Given the description of an element on the screen output the (x, y) to click on. 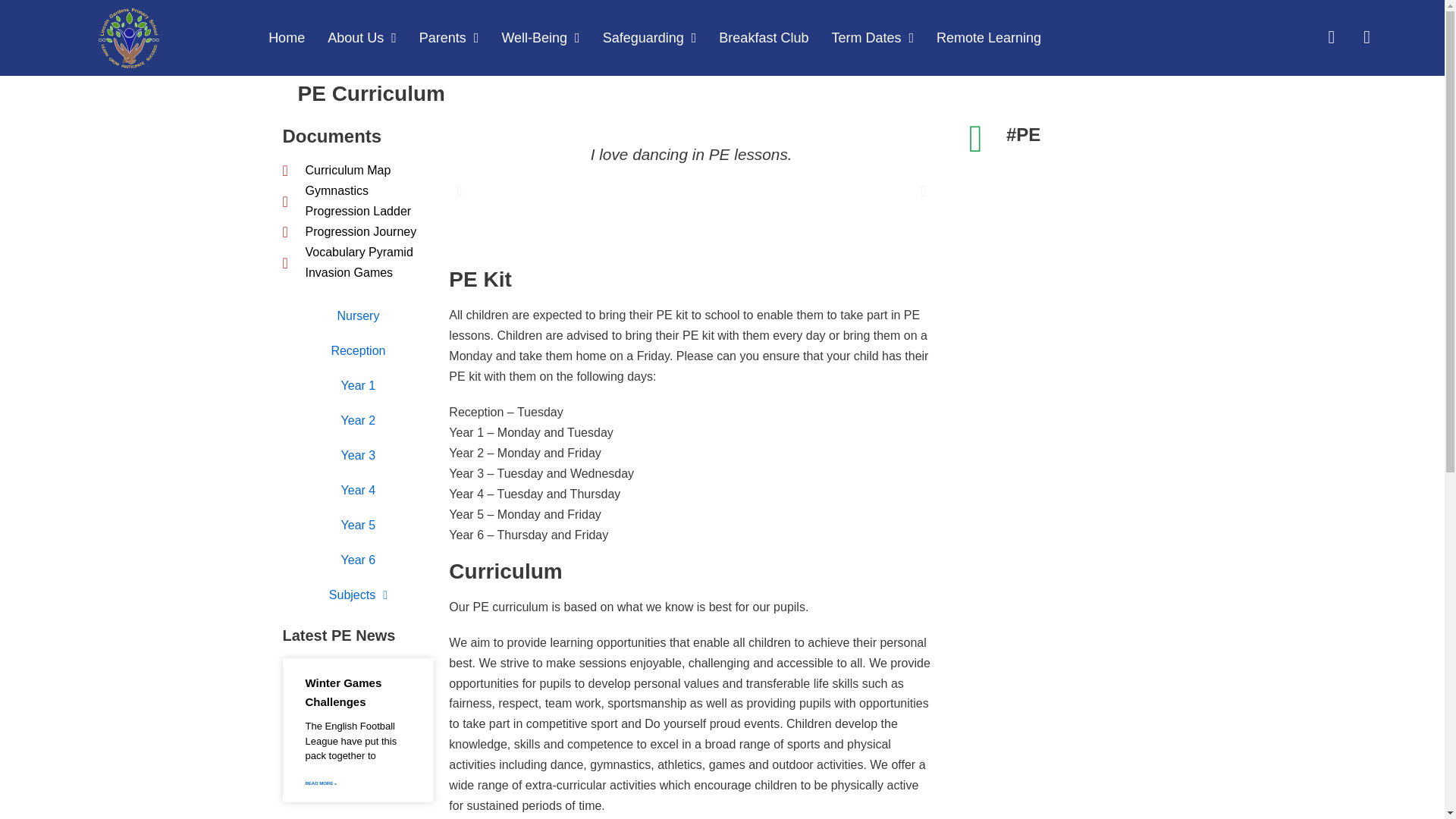
Skip to content (15, 7)
LOGO 2019 (128, 37)
Home (286, 37)
About Us (361, 37)
Parents (448, 37)
